Given the description of an element on the screen output the (x, y) to click on. 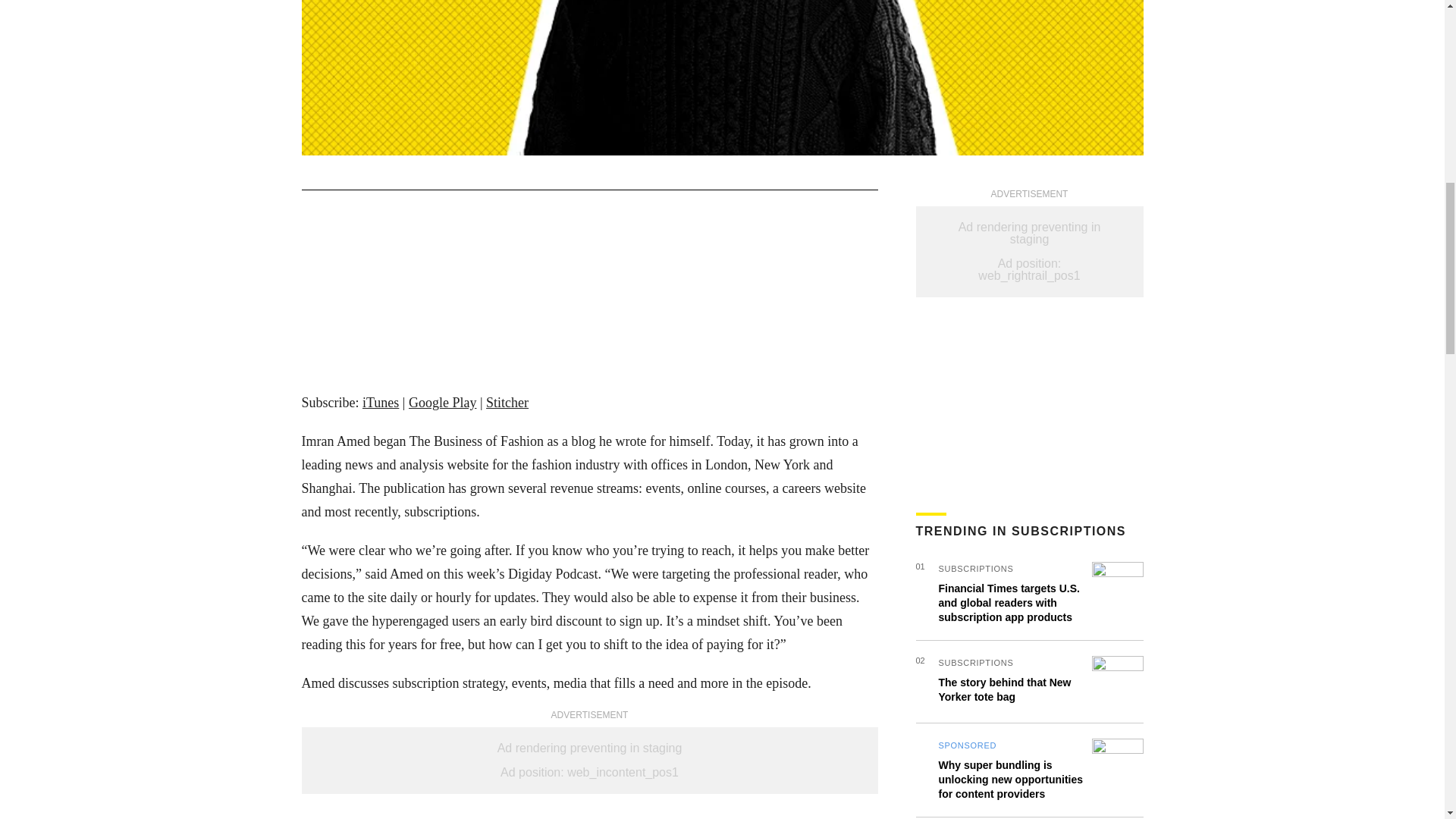
The story behind that New Yorker tote bag (1005, 689)
